Given the description of an element on the screen output the (x, y) to click on. 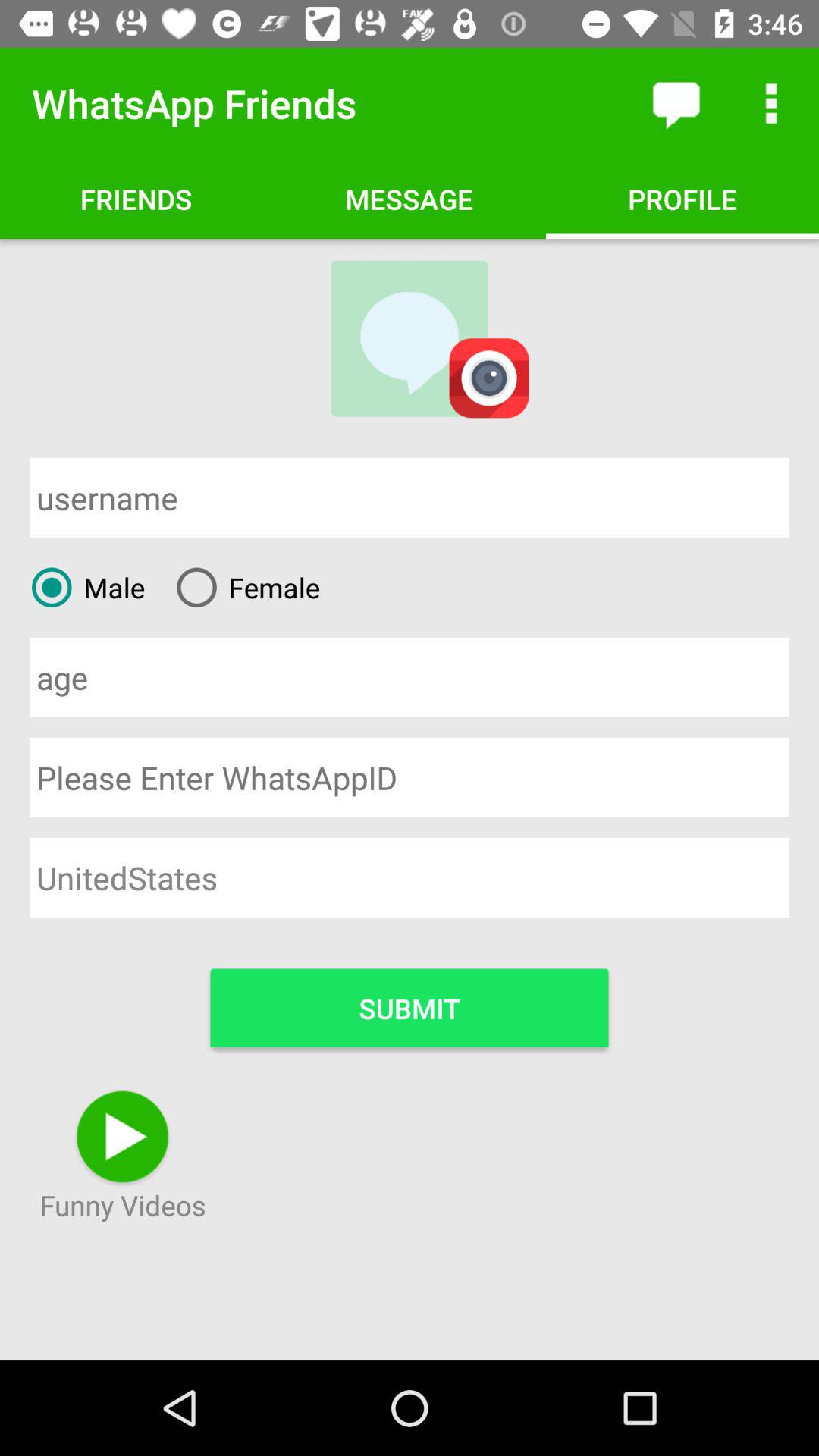
enter age (409, 677)
